Given the description of an element on the screen output the (x, y) to click on. 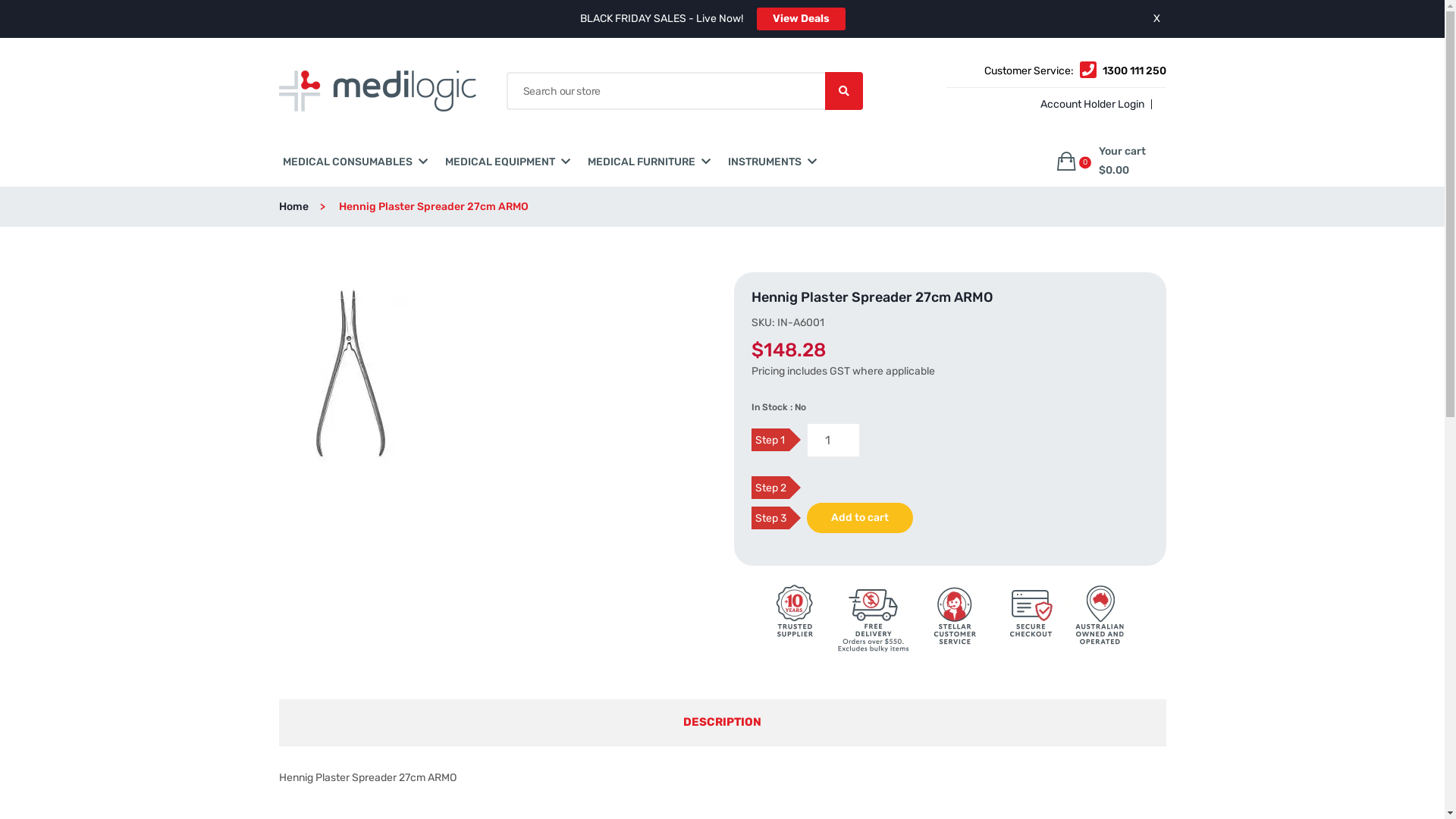
Home Element type: text (307, 206)
Add to cart Element type: text (859, 517)
INSTRUMENTS Element type: text (764, 162)
MEDICAL CONSUMABLES Element type: text (346, 162)
X Element type: text (1155, 18)
DESCRIPTION Element type: text (722, 721)
1300 111 250 Element type: text (1134, 70)
MEDICAL FURNITURE Element type: text (640, 162)
MEDICAL EQUIPMENT Element type: text (499, 162)
Account Holder Login Element type: text (1089, 103)
View Deals Element type: text (800, 18)
